Given the description of an element on the screen output the (x, y) to click on. 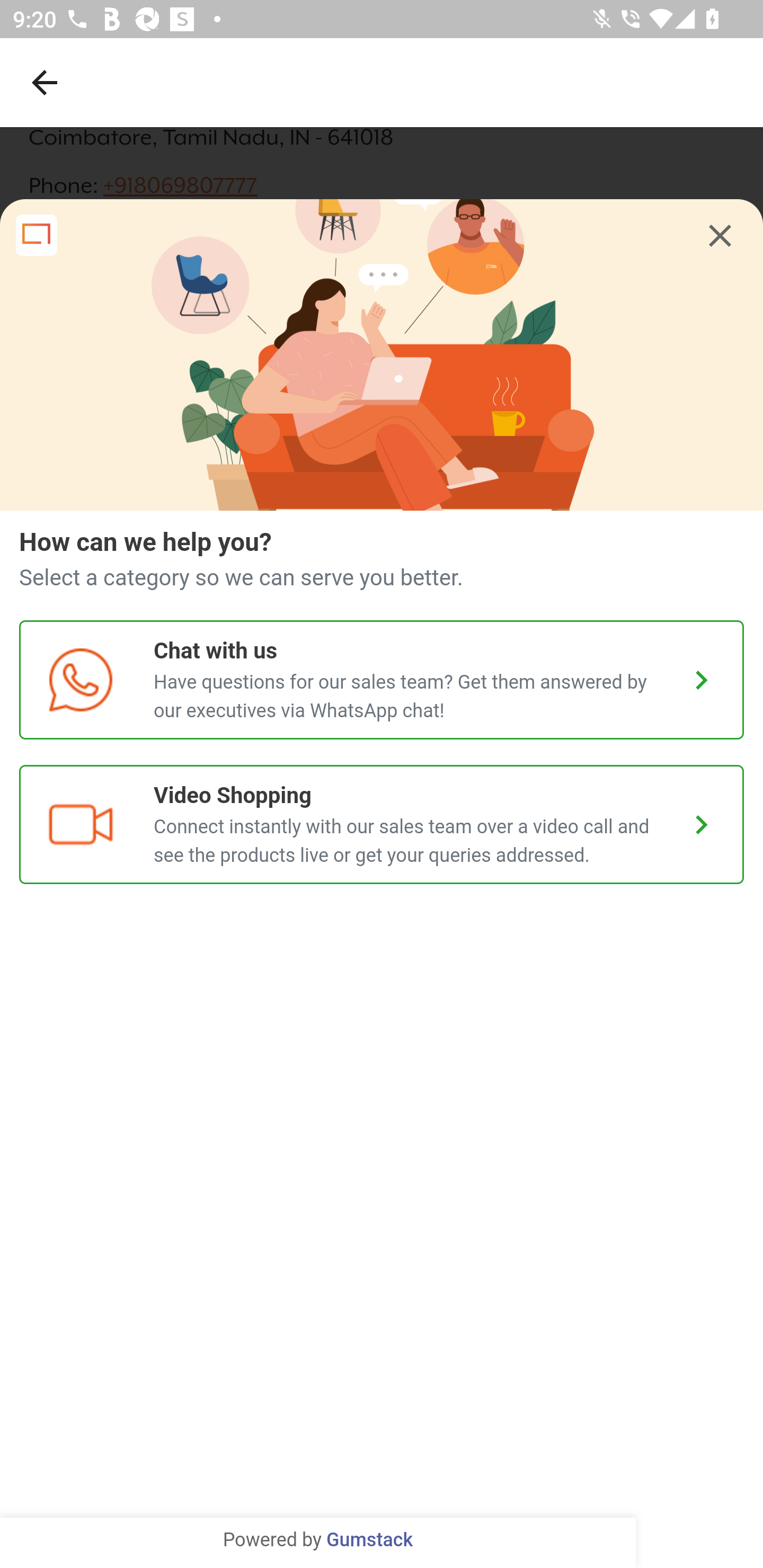
Navigate up (44, 82)
clear (720, 235)
SEE IN MAPS (381, 1530)
Gumstack (369, 1540)
